Given the description of an element on the screen output the (x, y) to click on. 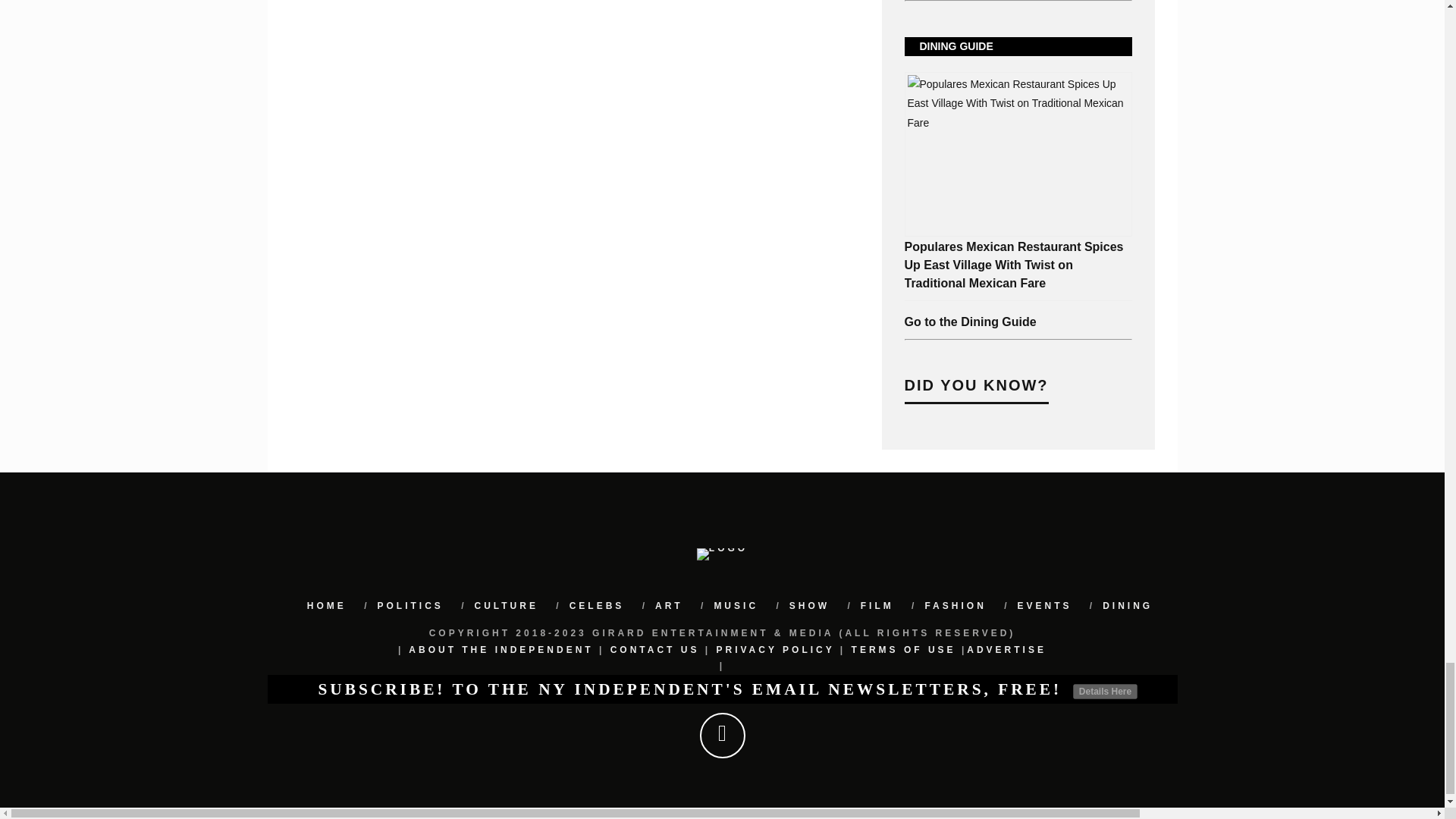
Details Here (1105, 691)
